Given the description of an element on the screen output the (x, y) to click on. 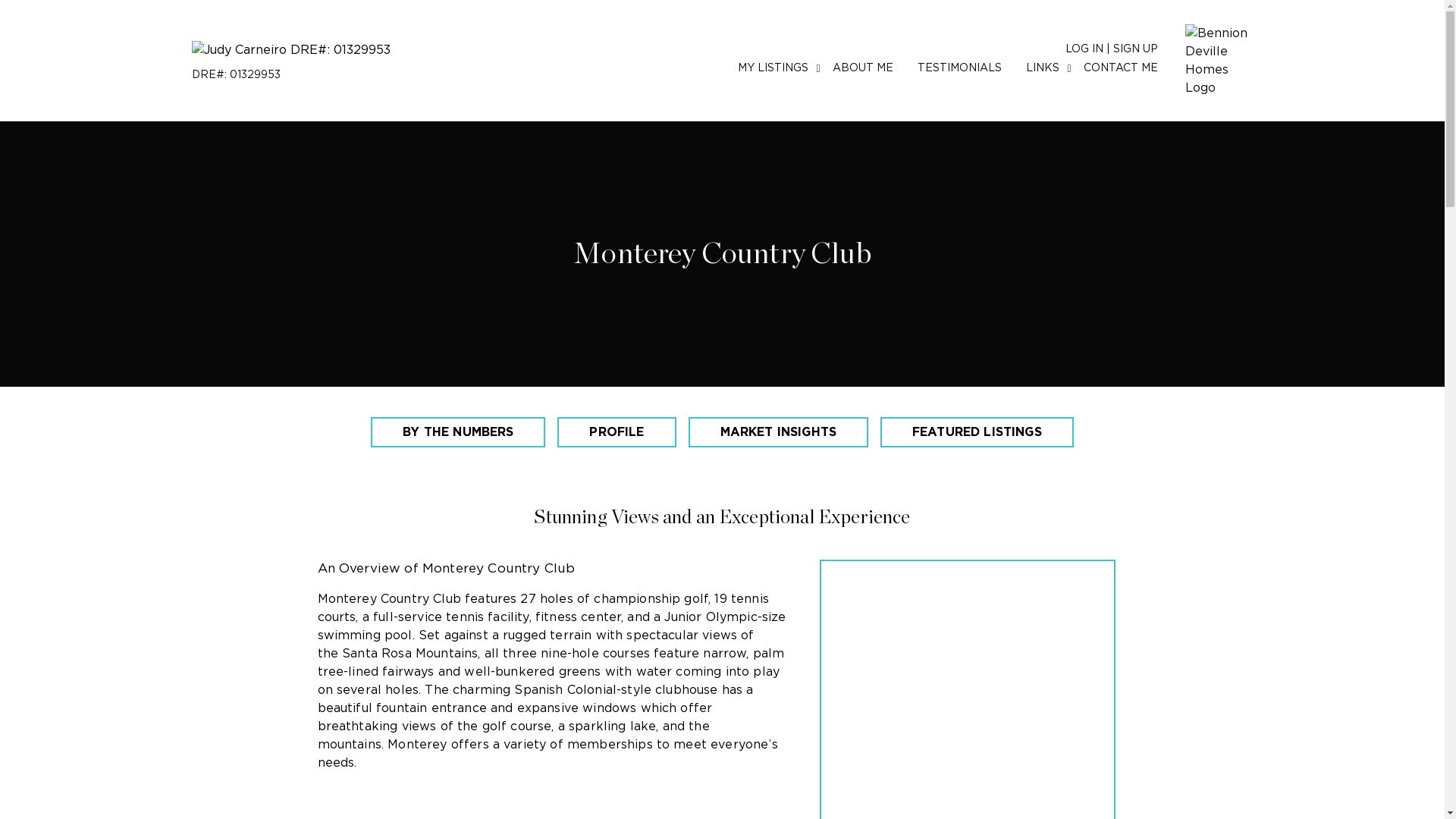
CONTACT ME (1120, 68)
PROFILE (616, 431)
LINKS (1041, 68)
ABOUT ME (862, 68)
MARKET INSIGHTS (777, 431)
BY THE NUMBERS (457, 431)
TESTIMONIALS (959, 68)
Judy Carneiro (290, 59)
FEATURED LISTINGS (977, 431)
MY LISTINGS (772, 68)
